Given the description of an element on the screen output the (x, y) to click on. 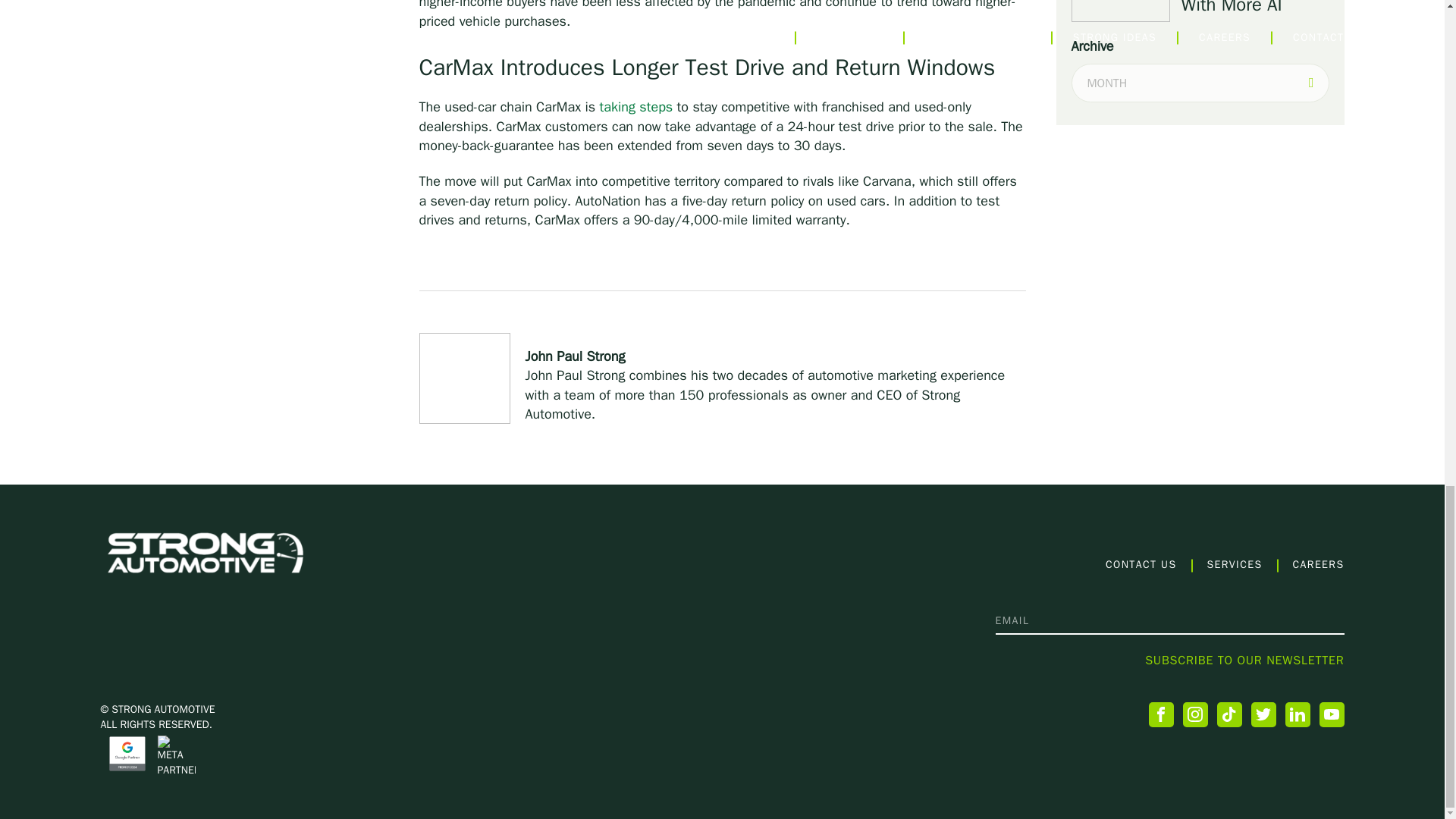
Google Premier Partner (126, 753)
LinkedIn (1296, 714)
TikTok (1228, 714)
Facebook (1160, 714)
Strong Automotive (204, 552)
Instagram (1195, 714)
Youtube (1331, 714)
Twitter (1263, 714)
Meta Partner (176, 756)
